Given the description of an element on the screen output the (x, y) to click on. 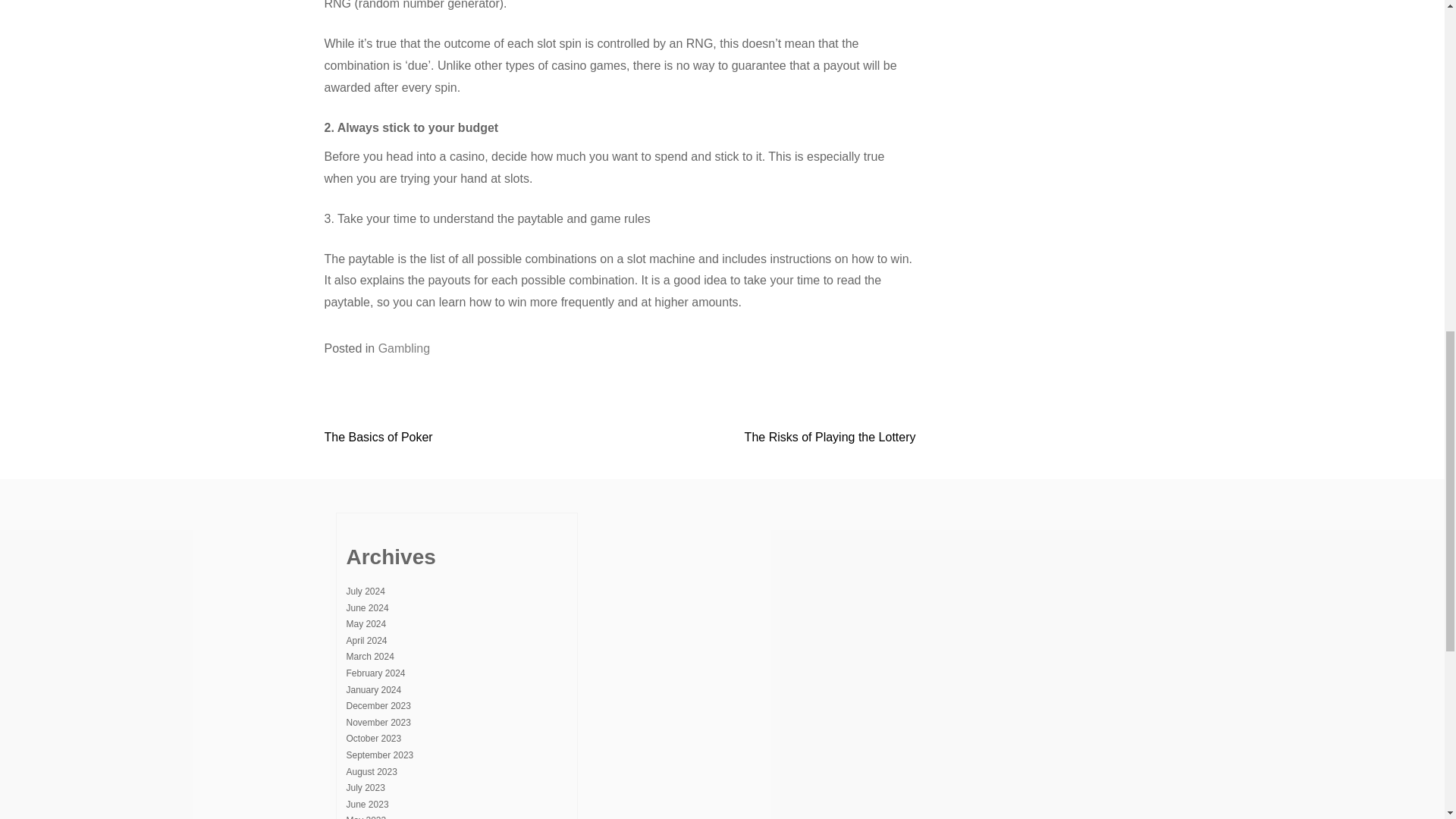
The Risks of Playing the Lottery (829, 436)
Gambling (403, 348)
November 2023 (378, 722)
June 2023 (367, 804)
July 2023 (365, 787)
August 2023 (371, 771)
June 2024 (367, 607)
The Basics of Poker (378, 436)
September 2023 (379, 755)
January 2024 (373, 689)
March 2024 (369, 656)
April 2024 (366, 640)
February 2024 (375, 673)
December 2023 (378, 706)
July 2024 (365, 591)
